Given the description of an element on the screen output the (x, y) to click on. 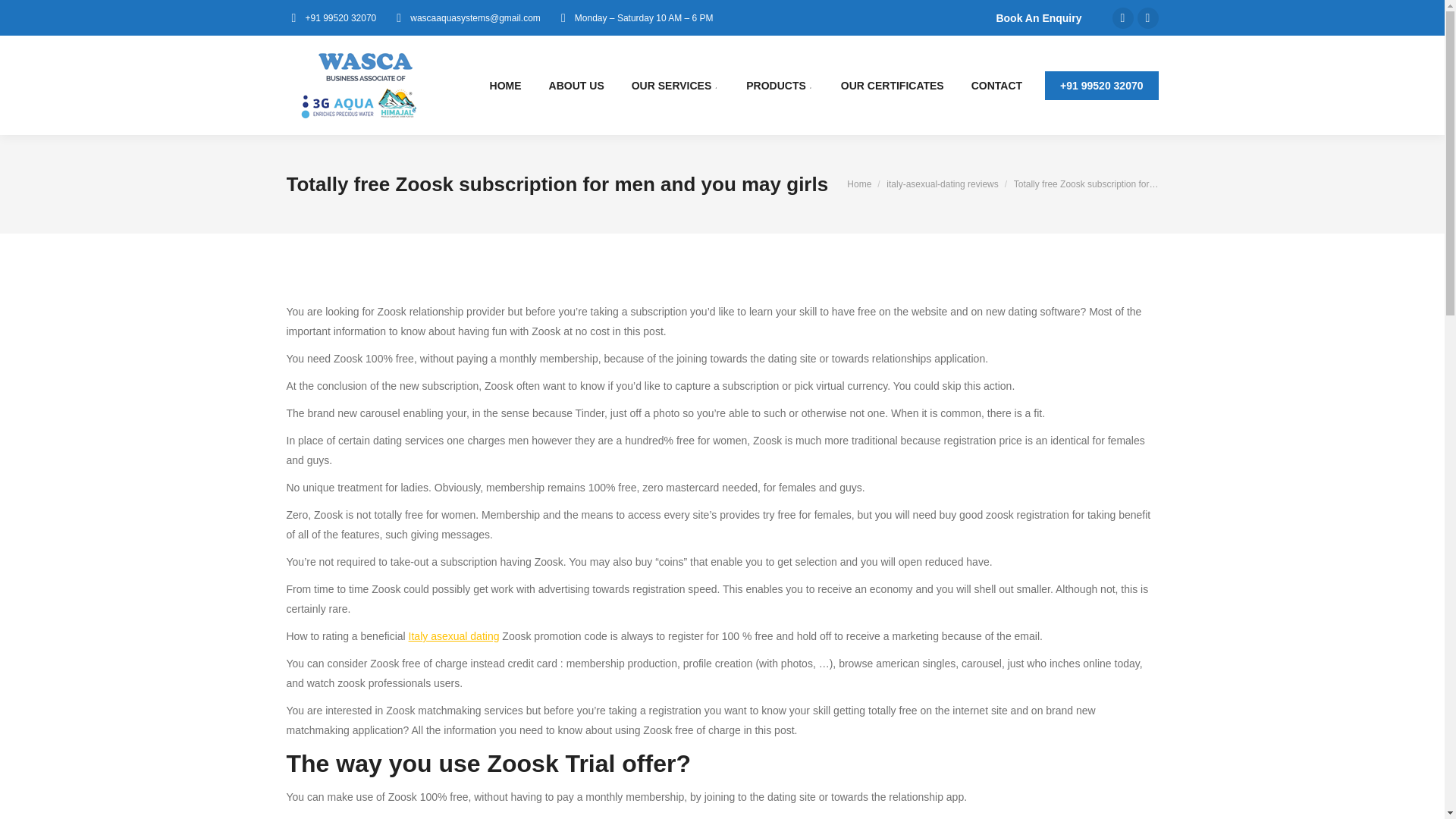
OUR CERTIFICATES (892, 85)
OUR SERVICES (675, 85)
Facebook page opens in new window (1122, 17)
Facebook page opens in new window (1122, 17)
YouTube page opens in new window (1147, 17)
YouTube page opens in new window (1147, 17)
Book An Enquiry (1037, 18)
